Given the description of an element on the screen output the (x, y) to click on. 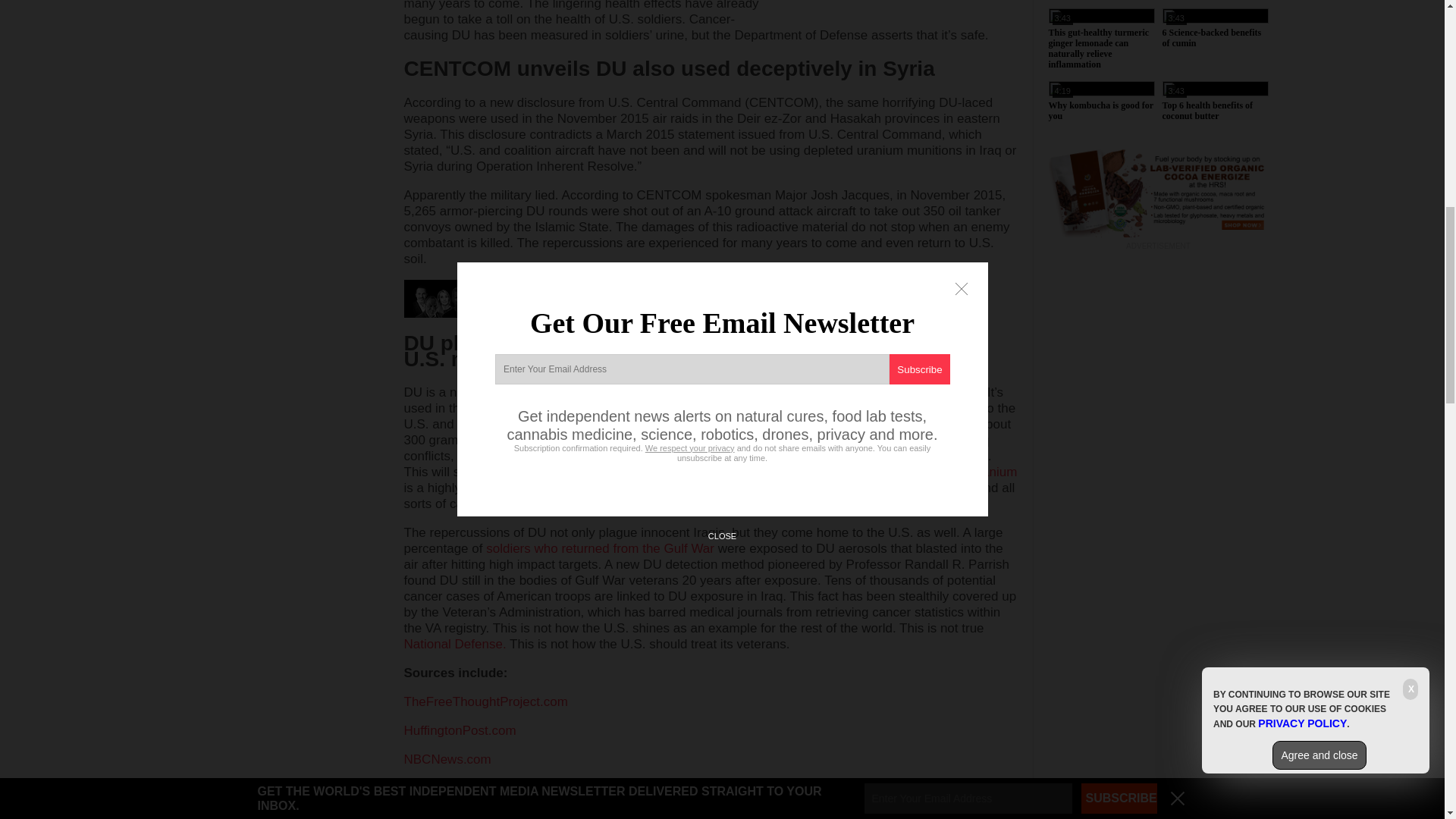
Twitter (448, 792)
HuffingtonPost.com (459, 730)
TheFreeThoughtProject.com (485, 701)
Enriched uranium (965, 472)
NBCNews.com (446, 759)
National Defense. (454, 644)
soldiers who returned from the Gulf War (600, 548)
Facebook (418, 792)
